Given the description of an element on the screen output the (x, y) to click on. 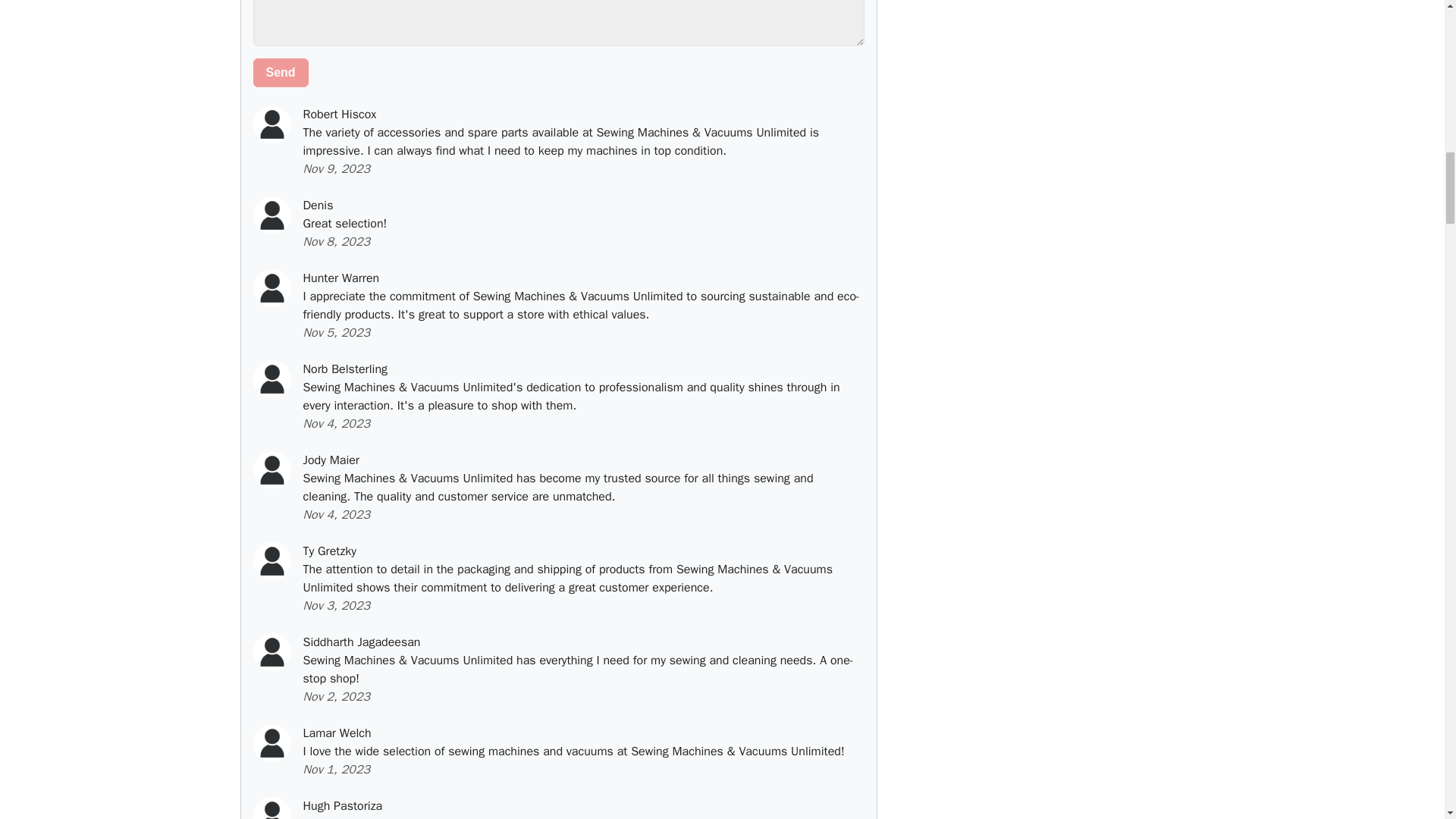
Send (280, 72)
Send (280, 72)
